Given the description of an element on the screen output the (x, y) to click on. 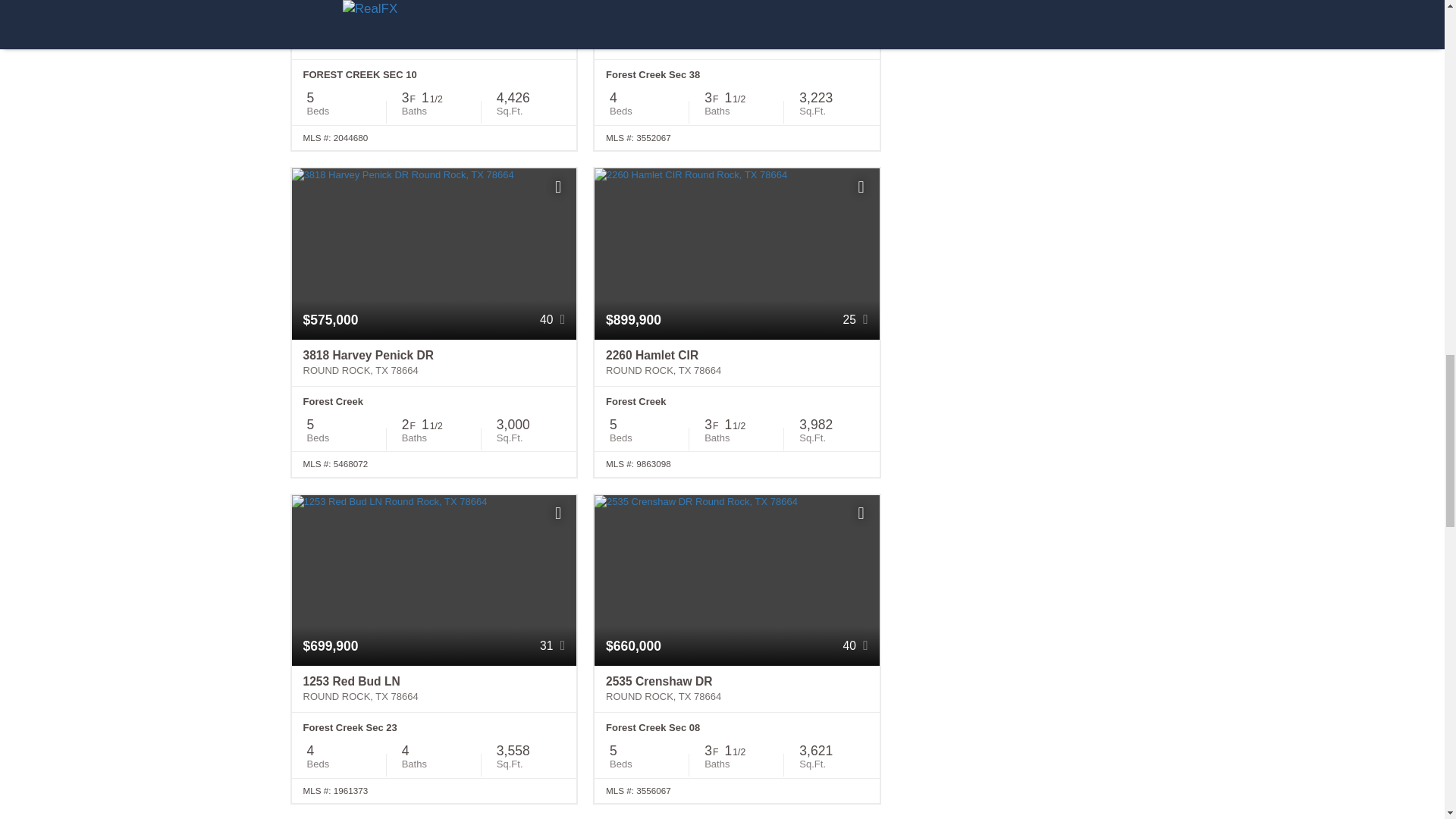
2113 Hilton Head DR Round Rock,  TX 78664 (433, 36)
107 Lee Trevino CV Round Rock,  TX 78664 (736, 36)
